Given the description of an element on the screen output the (x, y) to click on. 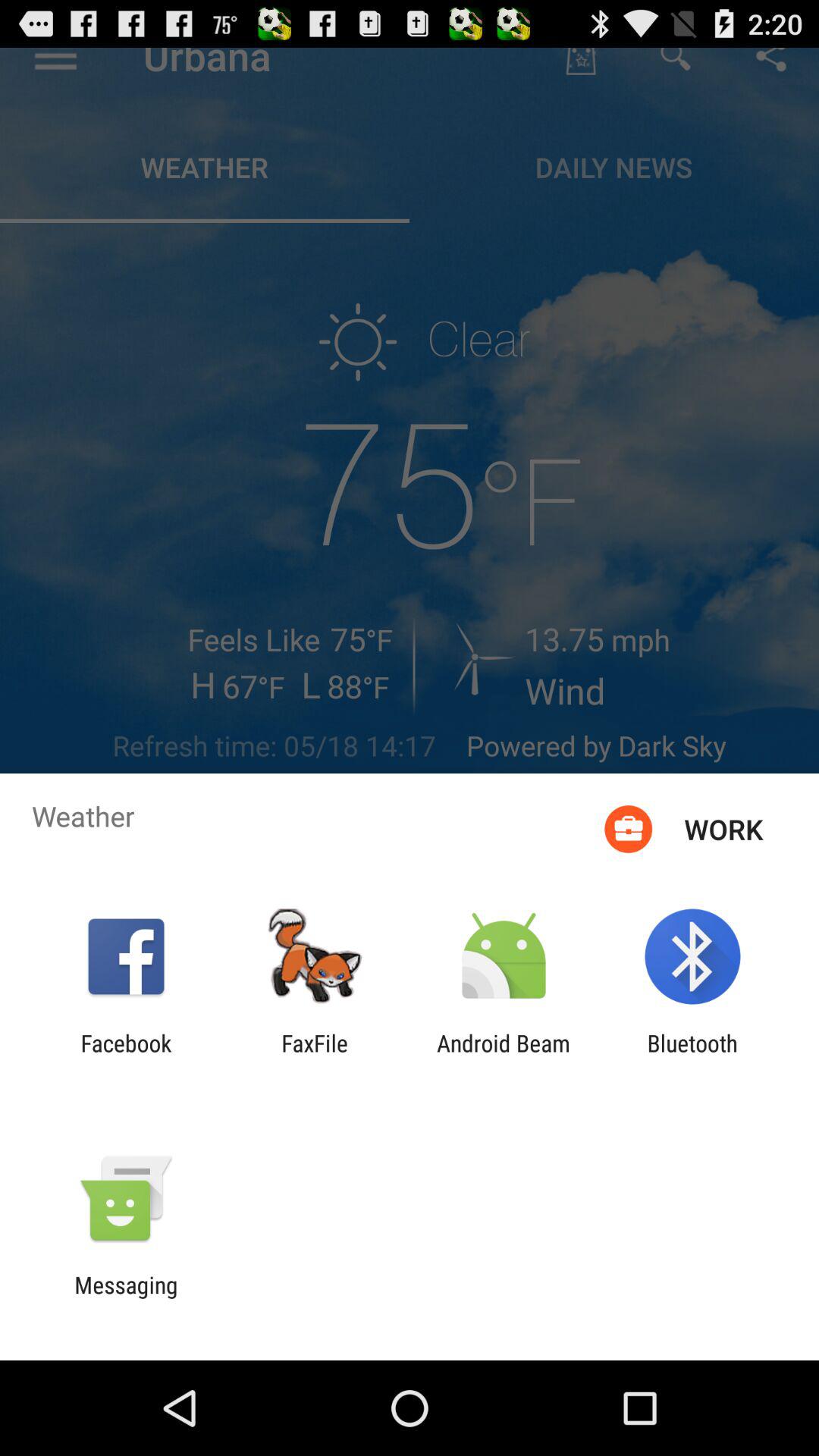
tap messaging icon (126, 1298)
